Given the description of an element on the screen output the (x, y) to click on. 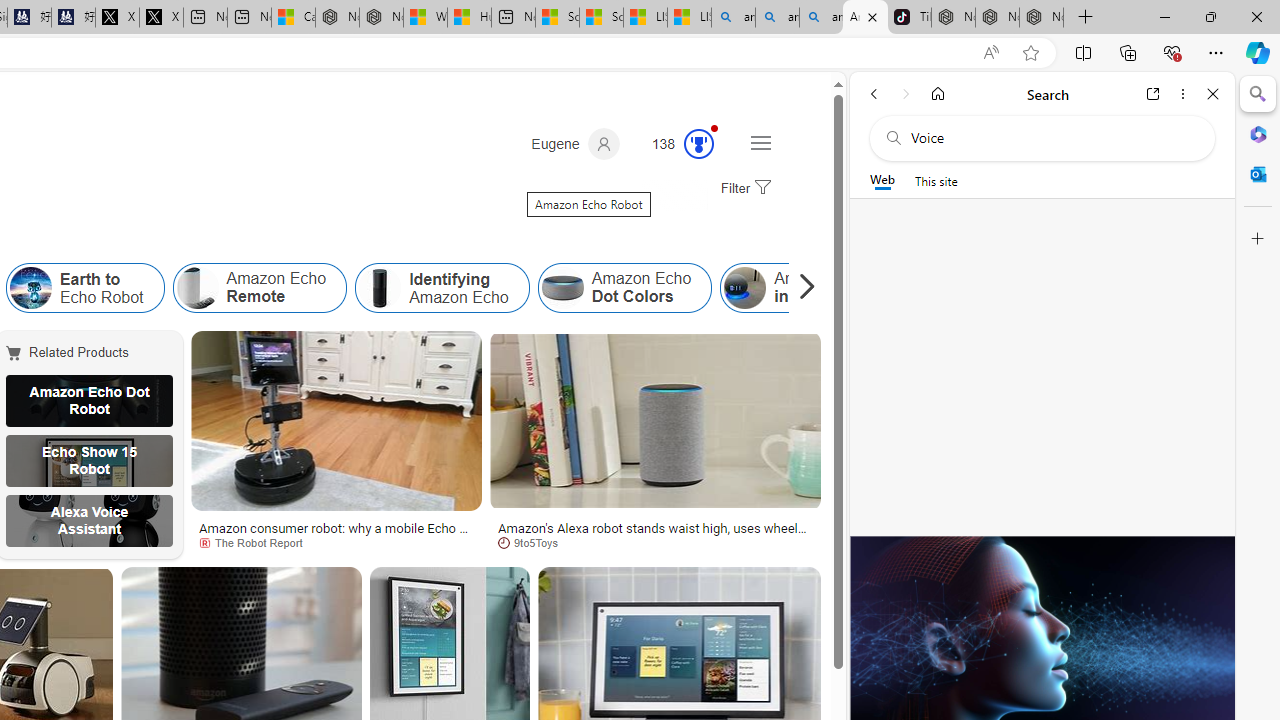
Settings and quick links (760, 142)
Alexa Voice Assistant (89, 521)
Nordace - Siena Pro 15 Essential Set (1041, 17)
Eugene (575, 143)
The Robot Report (257, 541)
Amazon Echo in Action (745, 287)
Alexa Voice Assistant Robot (89, 521)
Earth to Echo Robot (30, 287)
Nordace - Best Sellers (953, 17)
